Given the description of an element on the screen output the (x, y) to click on. 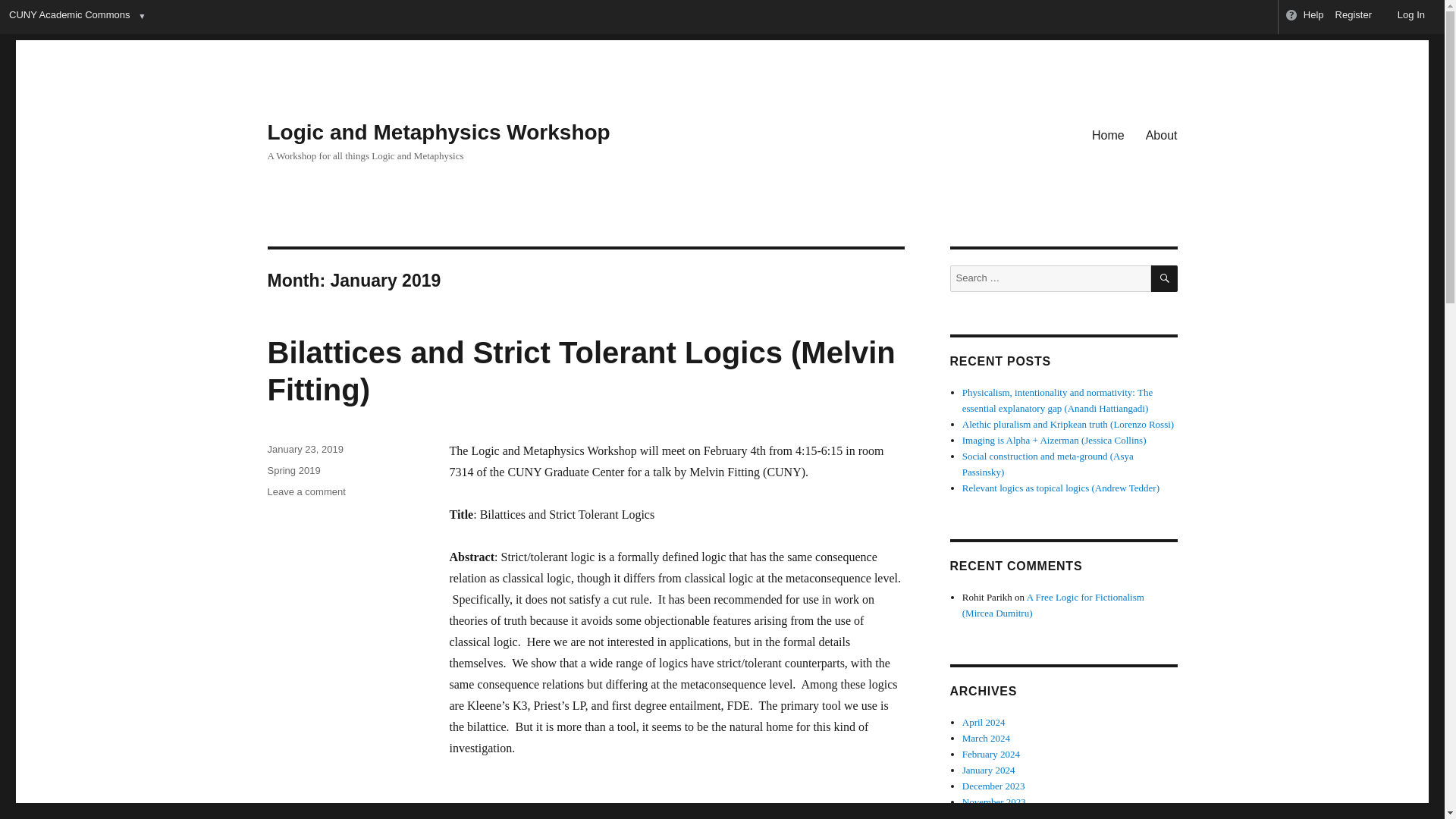
October 2023 (989, 815)
Logic and Metaphysics Workshop (438, 132)
Register (1353, 17)
CUNY Academic Commons (68, 17)
About (1161, 134)
January 23, 2019 (304, 449)
November 2023 (994, 801)
SEARCH (1164, 278)
December 2023 (993, 785)
January 2024 (988, 769)
Home (1108, 134)
Spring 2019 (293, 470)
Log In (1404, 17)
Help (1304, 17)
March 2024 (986, 737)
